Given the description of an element on the screen output the (x, y) to click on. 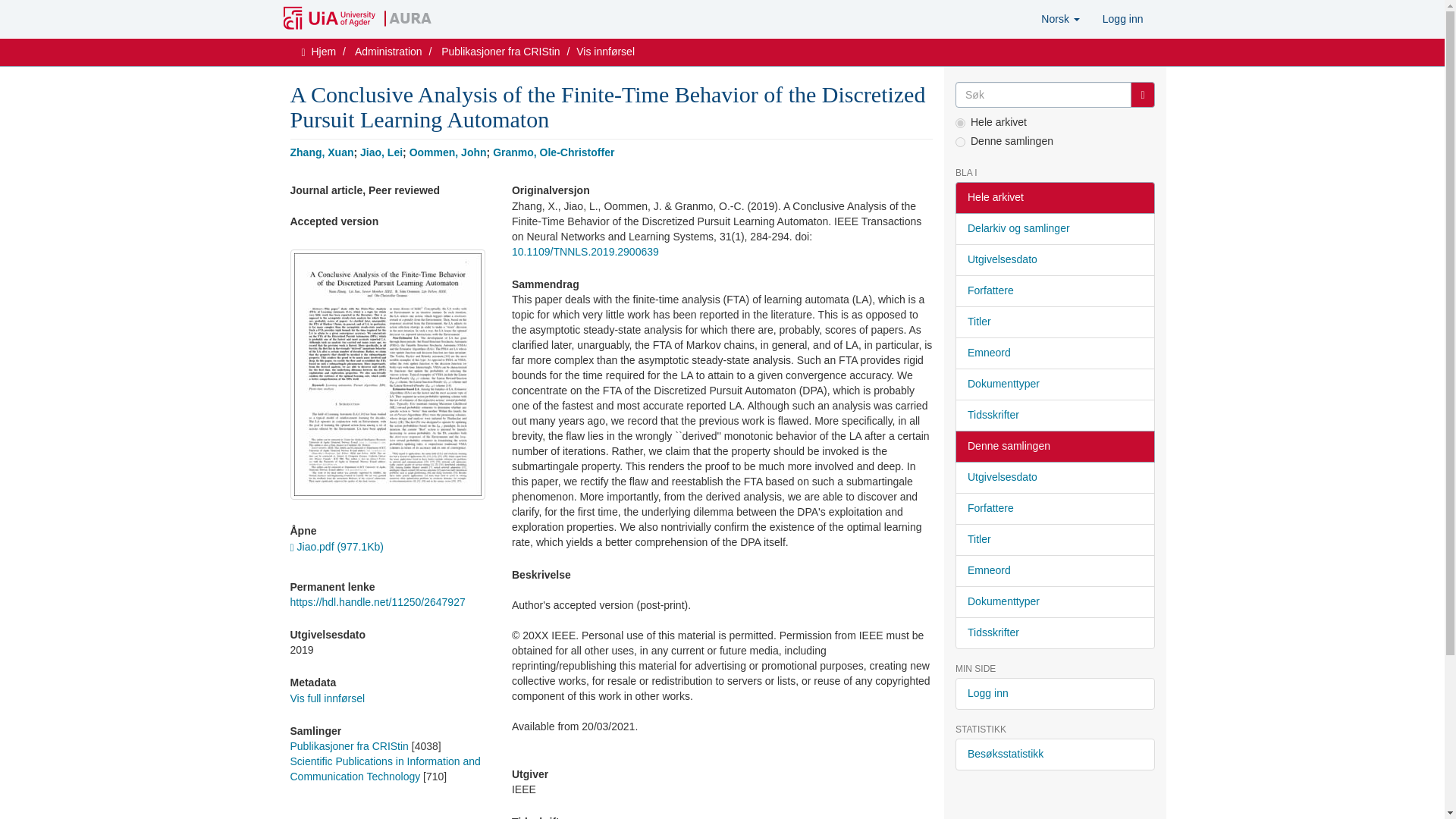
Publikasjoner fra CRIStin (348, 746)
Delarkiv og samlinger (1054, 228)
Granmo, Ole-Christoffer (553, 152)
Publikasjoner fra CRIStin (500, 51)
Logg inn (1122, 18)
Utgivelsesdato (1054, 260)
Norsk  (1059, 18)
Hjem (323, 51)
Zhang, Xuan (321, 152)
Oommen, John (447, 152)
Administration (388, 51)
Hele arkivet (1054, 197)
Jiao, Lei (381, 152)
